Given the description of an element on the screen output the (x, y) to click on. 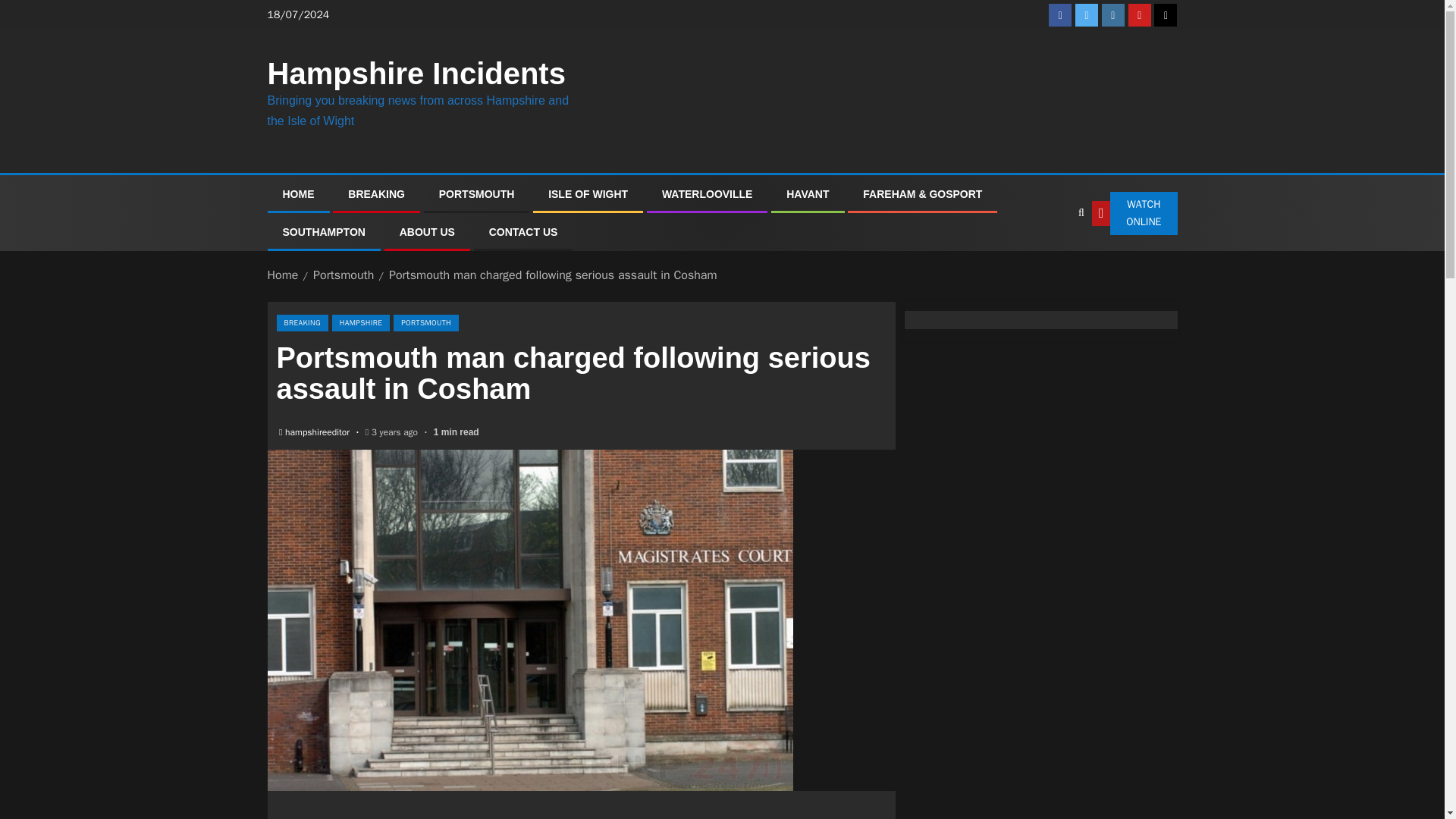
Search (1049, 258)
Portsmouth man charged following serious assault in Cosham (552, 274)
PORTSMOUTH (477, 193)
PORTSMOUTH (425, 322)
HOME (298, 193)
Hampshire Incidents (415, 73)
CONTACT US (523, 232)
ABOUT US (426, 232)
BREAKING (301, 322)
Advertisement (580, 812)
BREAKING (375, 193)
Search (1080, 213)
WATERLOOVILLE (707, 193)
HAVANT (807, 193)
SOUTHAMPTON (323, 232)
